Given the description of an element on the screen output the (x, y) to click on. 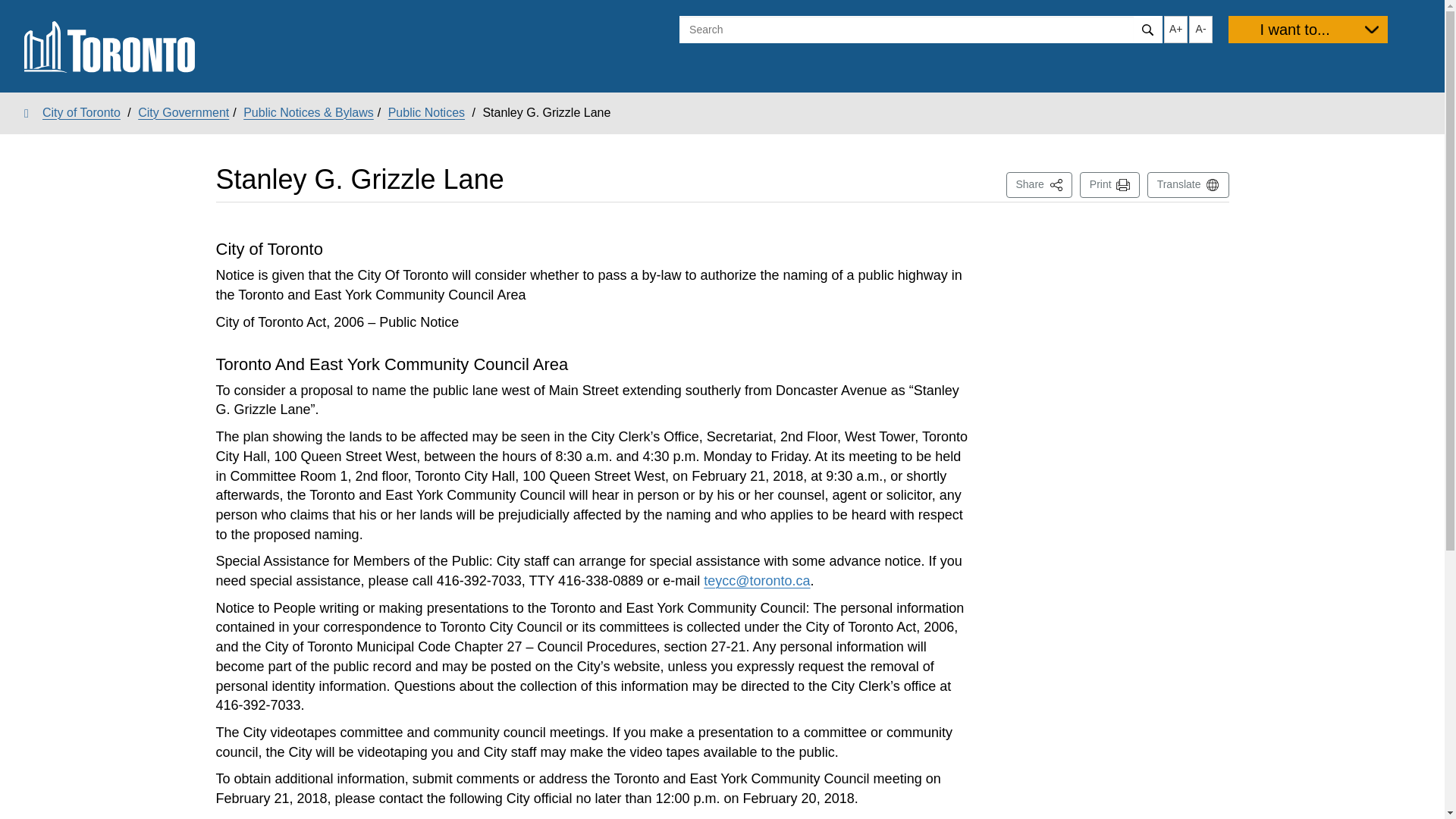
Public Notices (426, 112)
I want to... (1307, 29)
Increase text size (1175, 29)
City of Toronto (72, 112)
Skip to content (11, 11)
Translate (1187, 184)
City Government (1038, 184)
Print (183, 112)
